Given the description of an element on the screen output the (x, y) to click on. 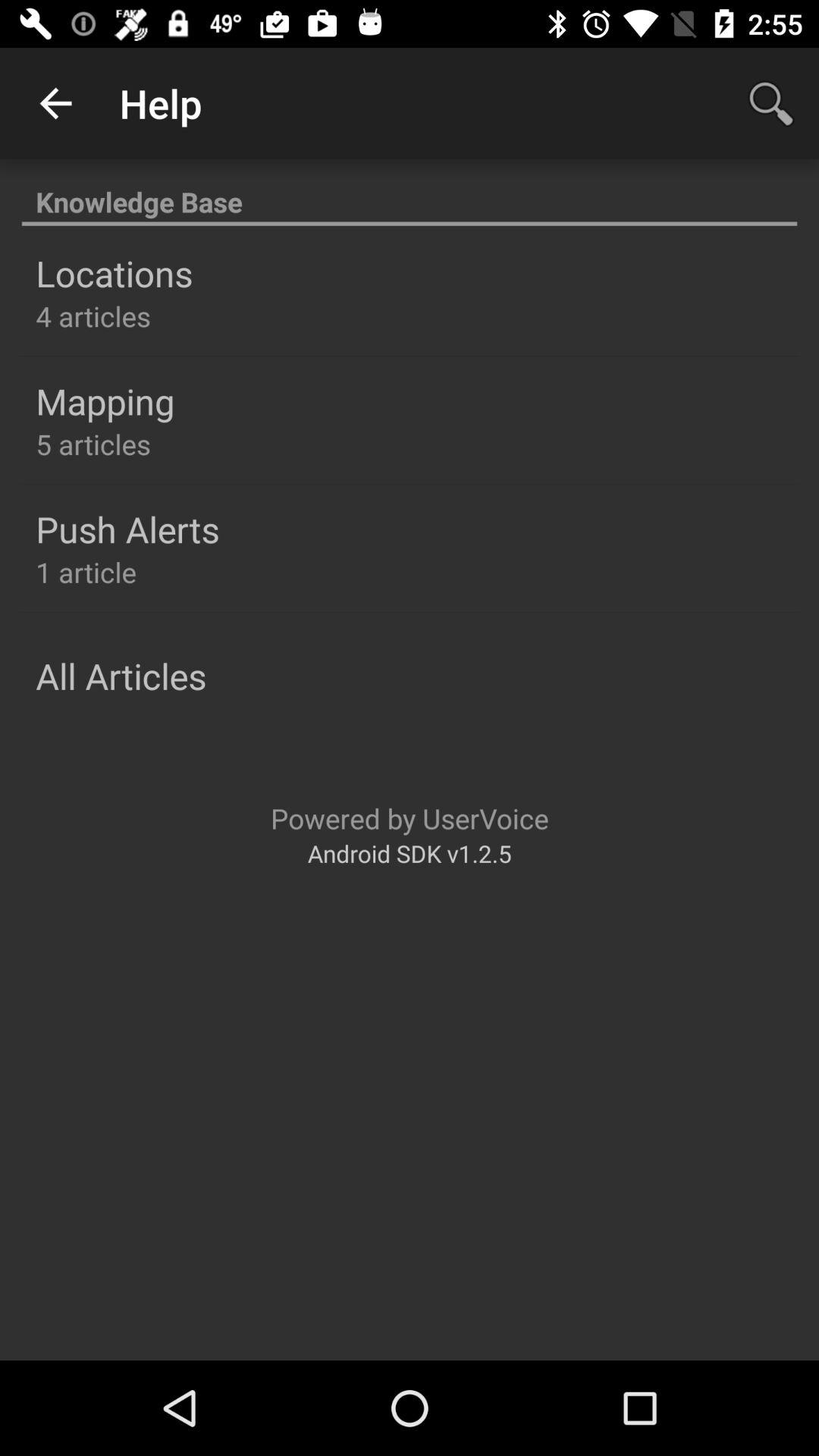
open item above the knowledge base (55, 103)
